Given the description of an element on the screen output the (x, y) to click on. 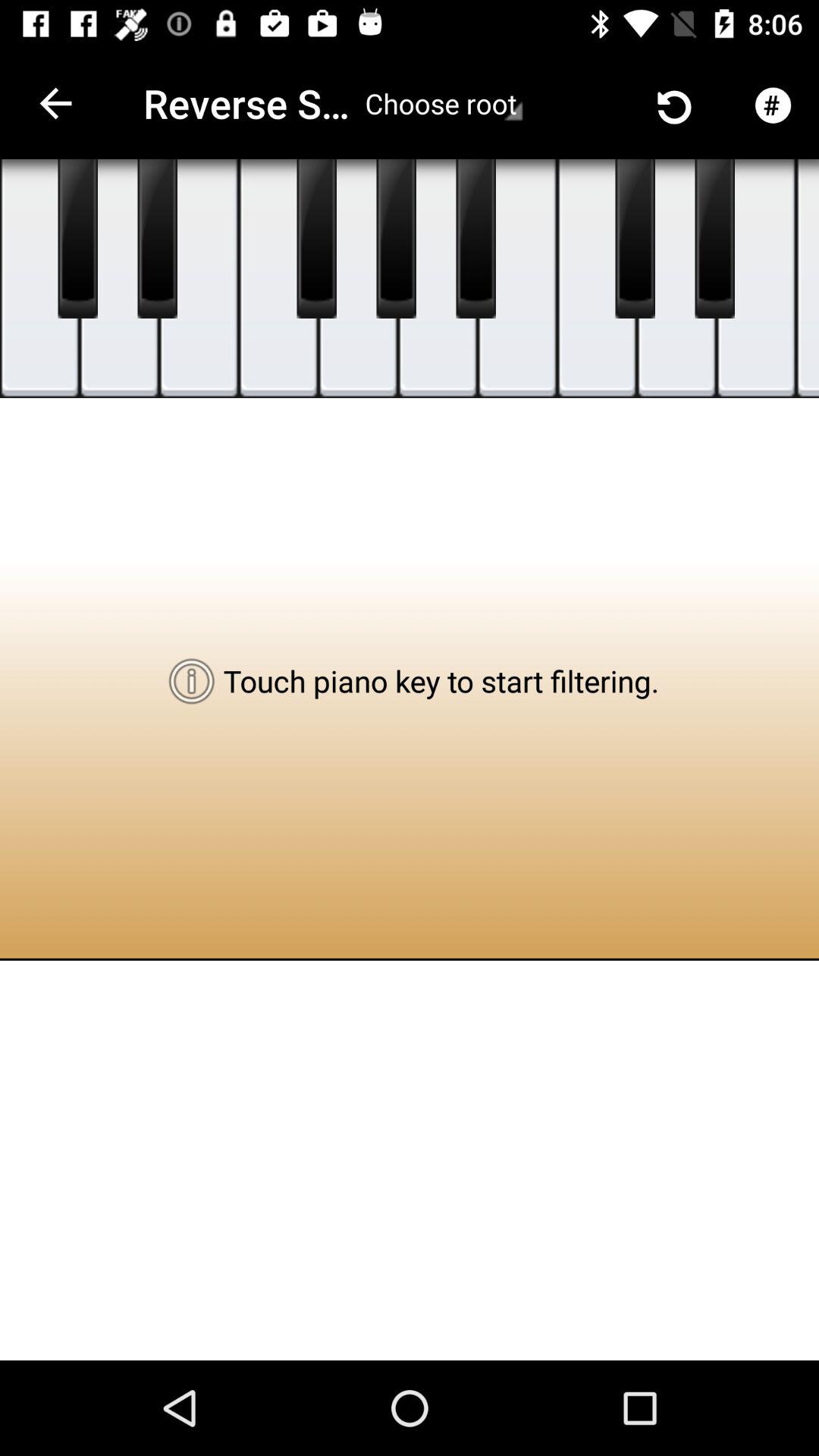
touch key to play sound (358, 278)
